Given the description of an element on the screen output the (x, y) to click on. 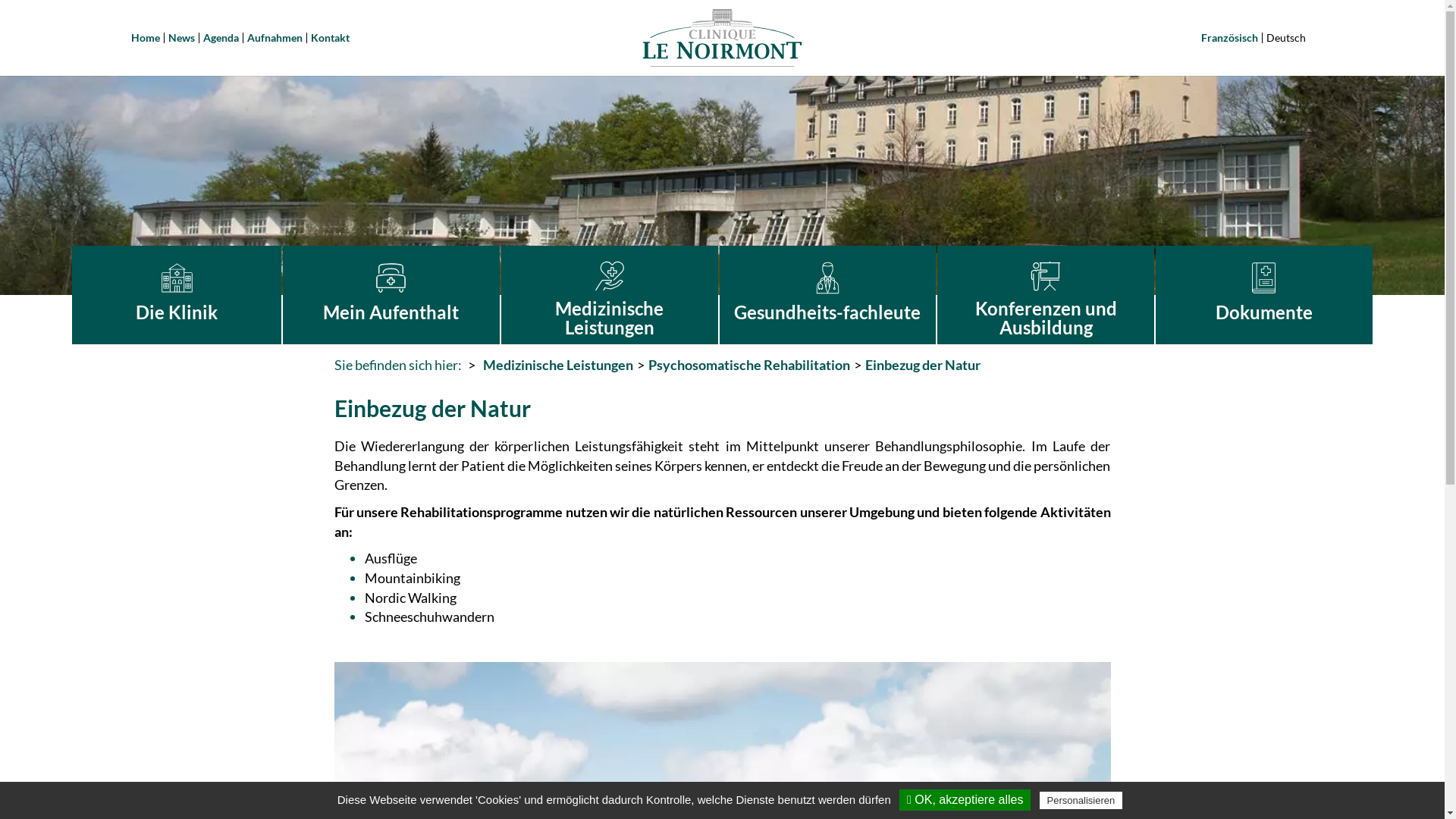
Clinique Le Noirmont Element type: text (721, 37)
Einbezug der Natur Element type: text (921, 364)
Psychosomatische Rehabilitation Element type: text (748, 364)
Agenda Element type: text (220, 37)
Home Element type: text (144, 37)
Kontakt Element type: text (329, 37)
Gesundheits-fachleute Element type: text (827, 294)
Personalisieren Element type: text (1081, 800)
Medizinische Leistungen Element type: text (557, 364)
Medizinische Leistungen Element type: text (609, 294)
Konferenzen und Ausbildung Element type: text (1045, 294)
Die Klinik Element type: text (176, 294)
Mein Aufenthalt Element type: text (390, 294)
Dokumente Element type: text (1263, 294)
Aufnahmen Element type: text (274, 37)
News Element type: text (181, 37)
